Given the description of an element on the screen output the (x, y) to click on. 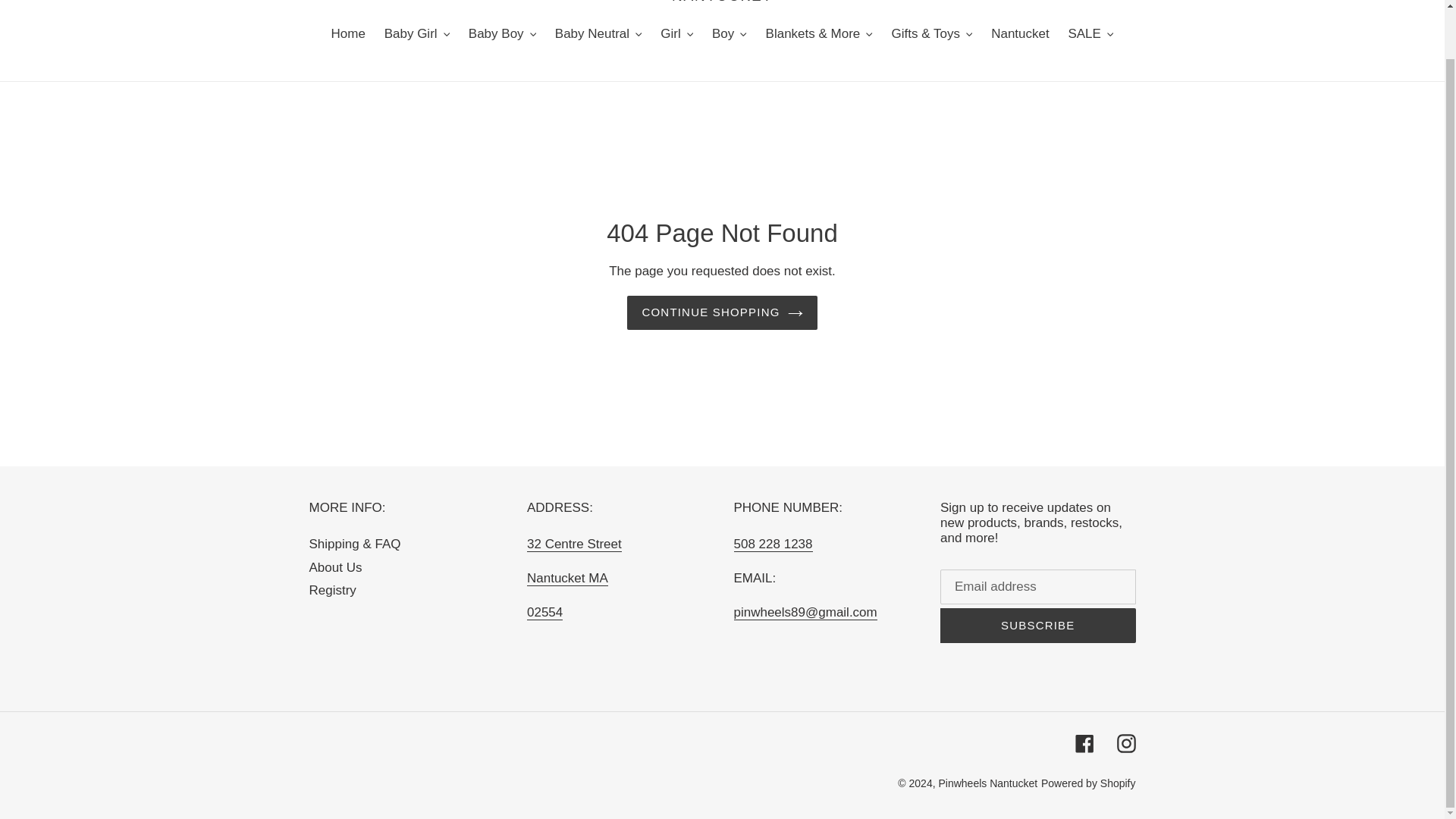
Cart (1387, 2)
tel: 508 228 1238 (772, 544)
Log in (1355, 2)
